Given the description of an element on the screen output the (x, y) to click on. 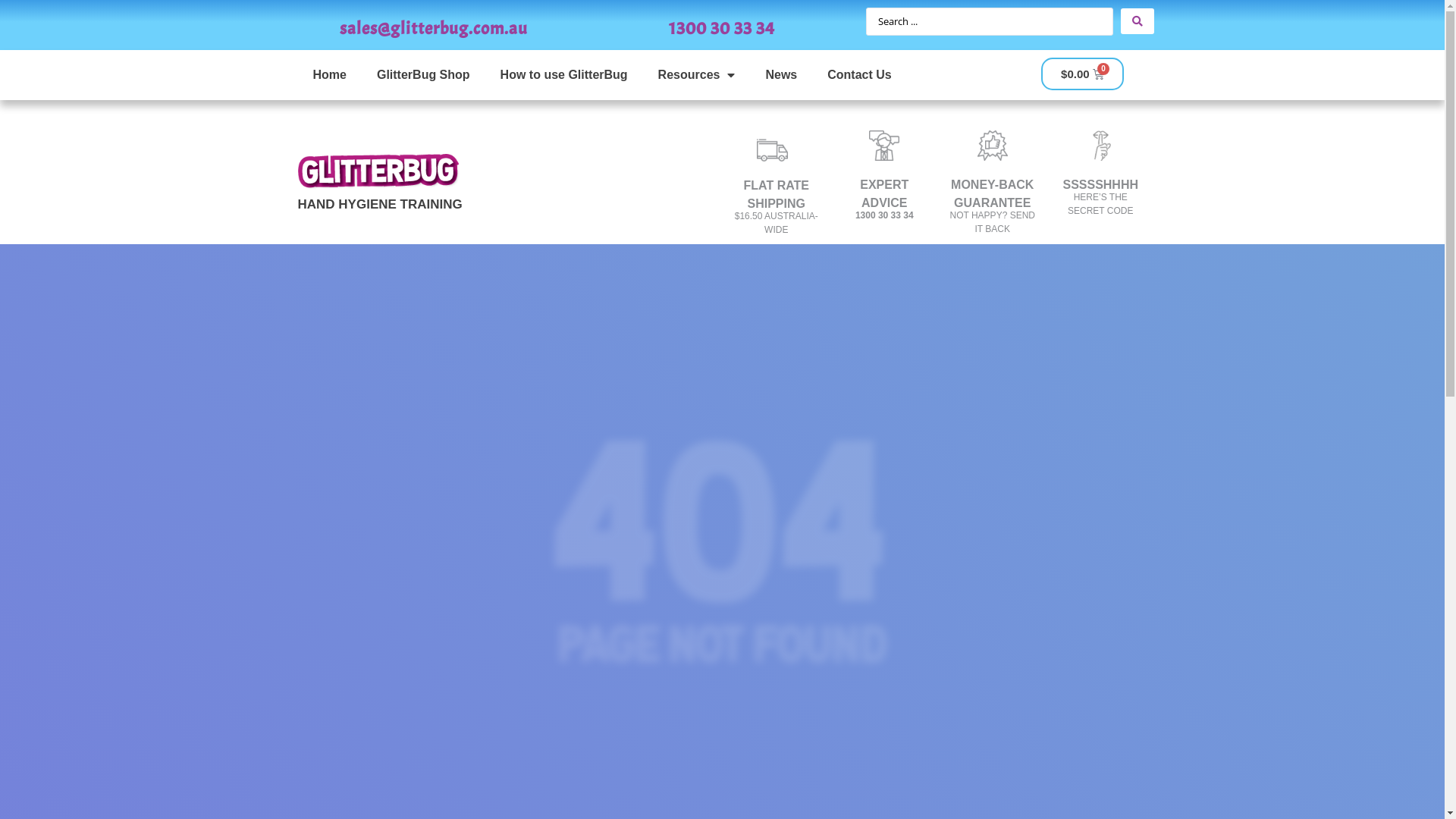
Contact Us Element type: text (859, 74)
News Element type: text (780, 74)
support-icon-grey.png Element type: hover (884, 145)
1300 30 33 34 Element type: text (721, 27)
header-icons.png Element type: hover (771, 145)
secret-code-icon Element type: hover (1100, 145)
Home Element type: text (328, 74)
$0.00
0 Element type: text (1082, 73)
sales@glitterbug.com.au Element type: text (433, 27)
guarantee-icon-grey.png Element type: hover (992, 145)
How to use GlitterBug Element type: text (564, 74)
GlitterBug Shop Element type: text (423, 74)
Resources Element type: text (696, 74)
